Given the description of an element on the screen output the (x, y) to click on. 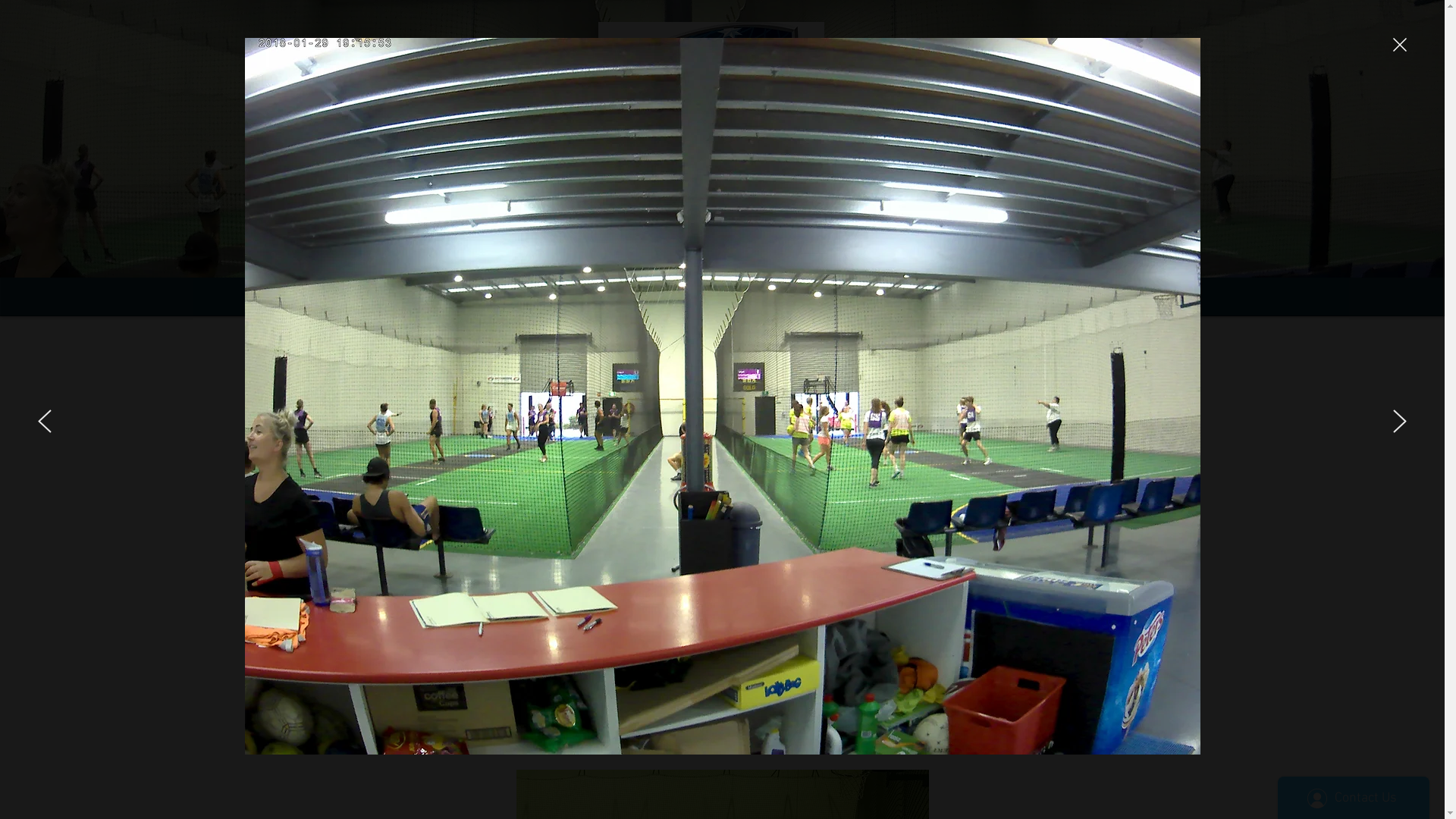
KIDS PARTIES Element type: text (798, 296)
RESULTS/LADDERS Element type: text (551, 296)
INFLATABLE PARK Element type: text (922, 296)
Log In Element type: text (1044, 156)
Register your team! Element type: text (721, 693)
SPORTS Element type: text (675, 296)
HOME Element type: text (426, 296)
ISV Croydon logo LARGE.jpg Element type: hover (710, 137)
